Given the description of an element on the screen output the (x, y) to click on. 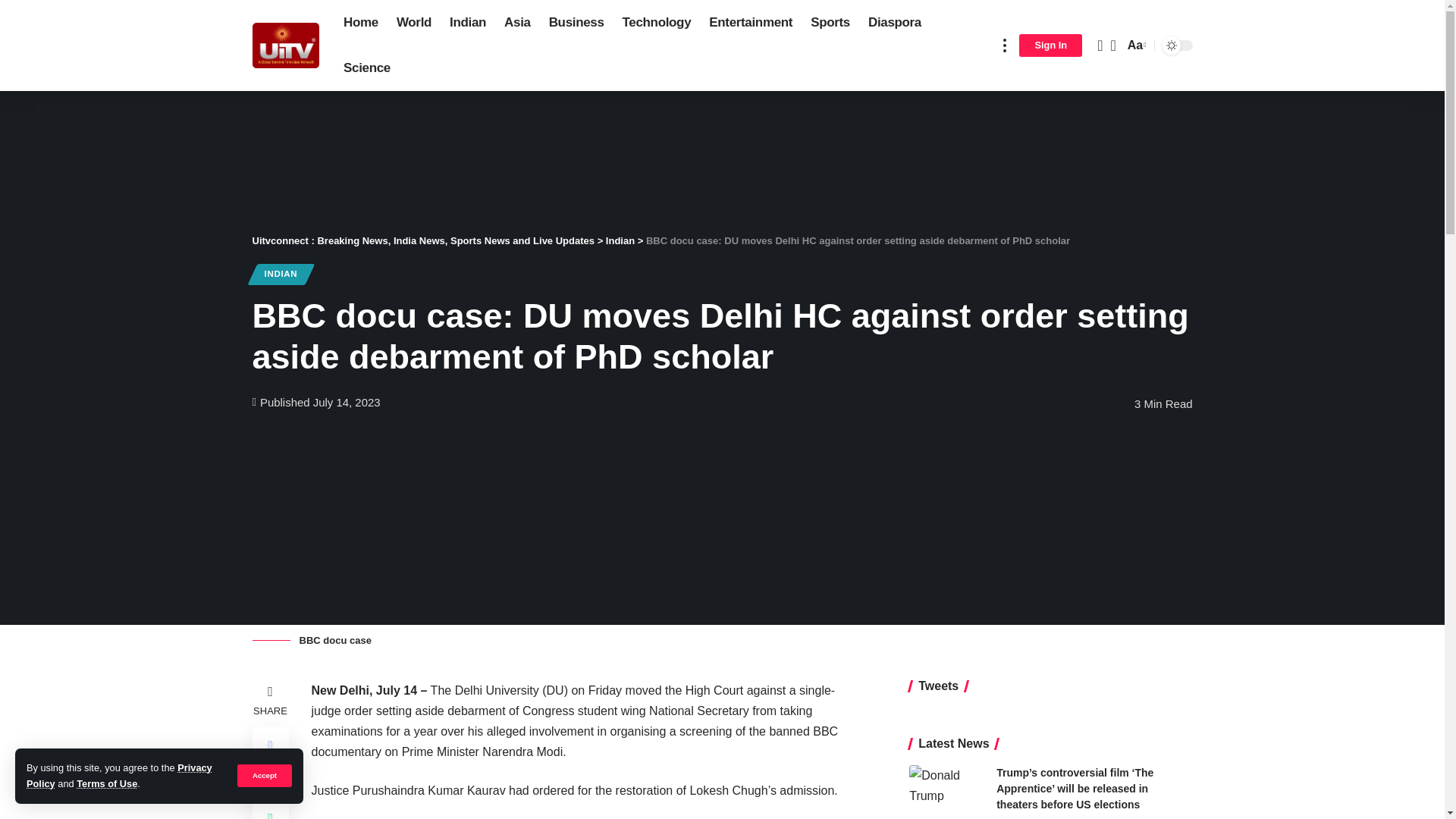
Privacy Policy (119, 775)
Diaspora (894, 22)
Sports (830, 22)
Indian (468, 22)
Terms of Use (106, 783)
Accept (264, 775)
World (414, 22)
Entertainment (751, 22)
Asia (517, 22)
